Given the description of an element on the screen output the (x, y) to click on. 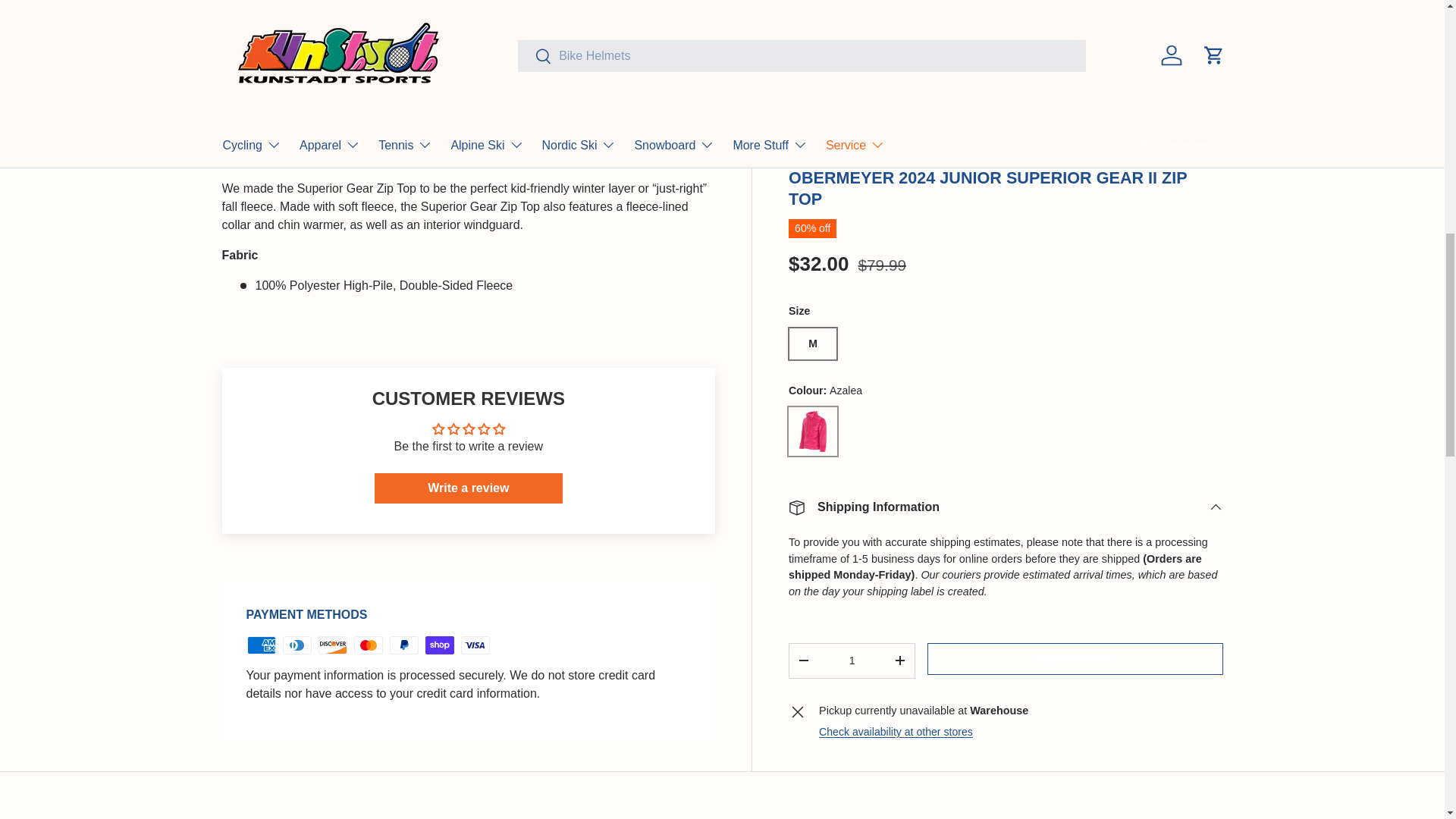
1 (851, 43)
